Given the description of an element on the screen output the (x, y) to click on. 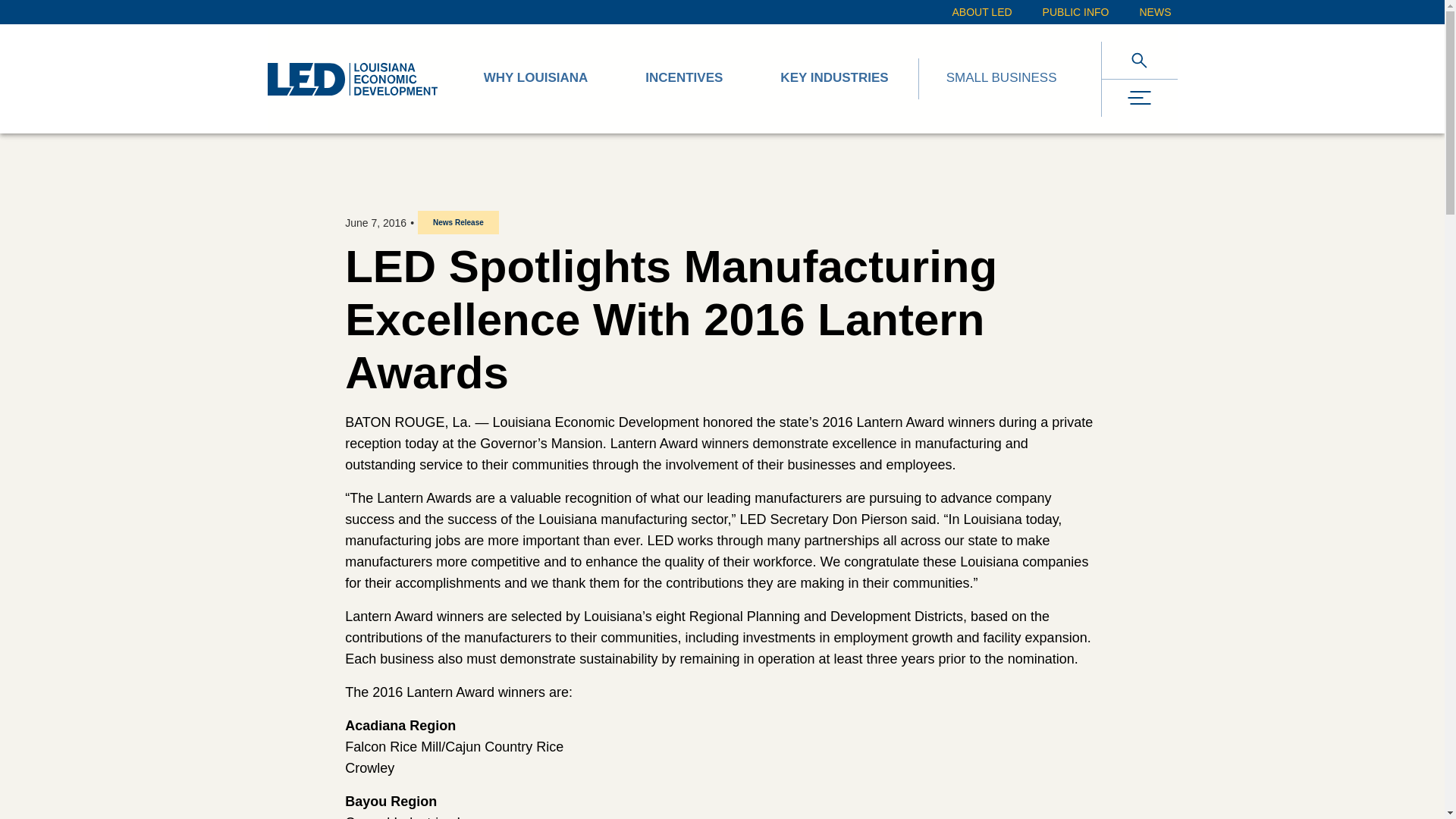
NEWS (1154, 12)
ABOUT LED (980, 12)
KEY INDUSTRIES (833, 78)
Skip To Main Content (15, 11)
PUBLIC INFO (1075, 12)
INCENTIVES (684, 78)
WHY LOUISIANA (535, 78)
